Given the description of an element on the screen output the (x, y) to click on. 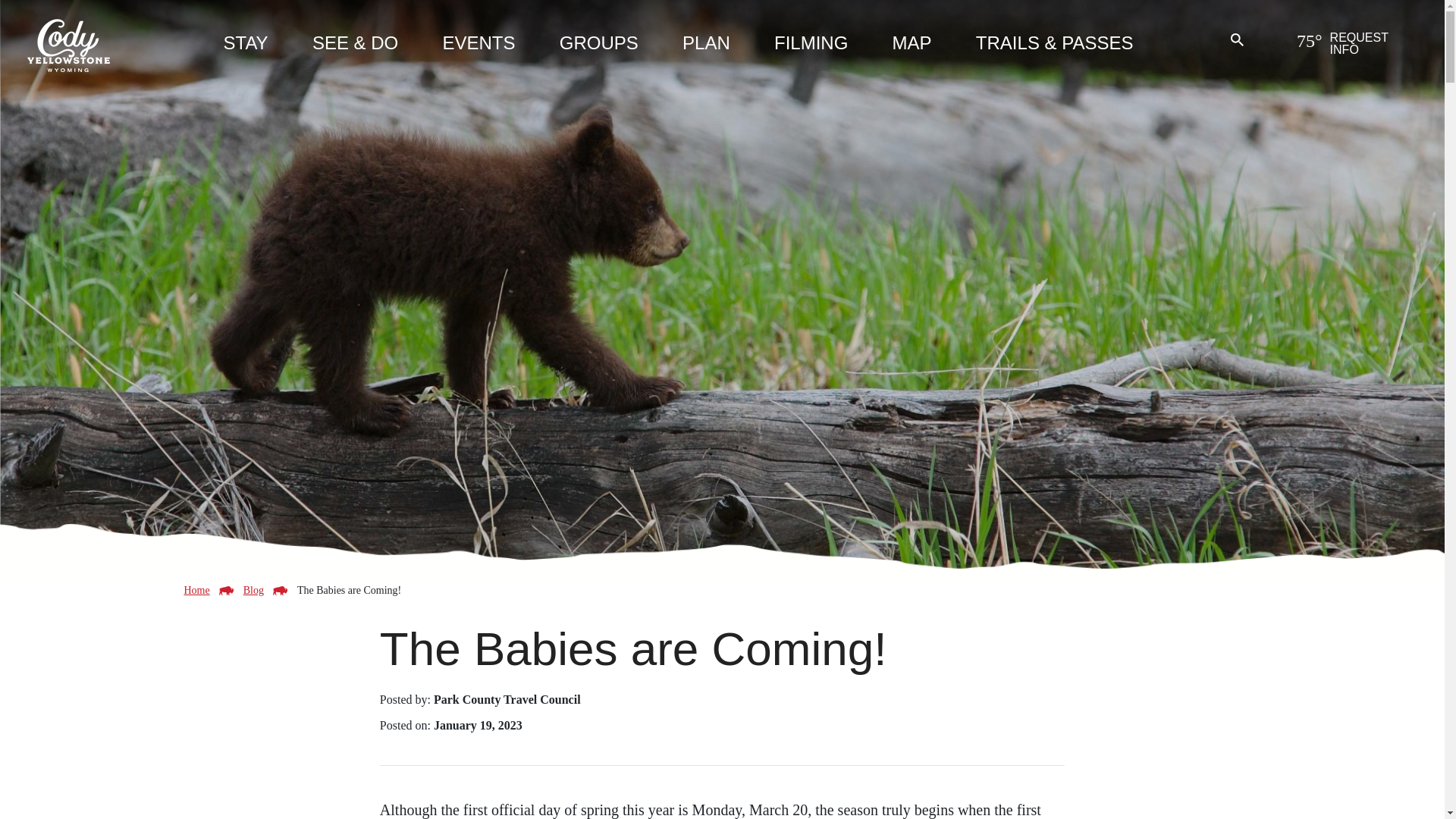
GROUPS (599, 45)
The Babies are Coming! (349, 590)
MAP (911, 45)
STAY (244, 45)
REQUEST INFO (1375, 48)
Map (911, 45)
Explore the region (706, 45)
Return to Homepage (196, 590)
Cody Yellowstone (68, 44)
Home (196, 590)
Plan your Activities (355, 45)
FILMING (810, 45)
CODY YELLOWSTONE (68, 44)
PLAN (706, 45)
Group Travel (599, 45)
